Given the description of an element on the screen output the (x, y) to click on. 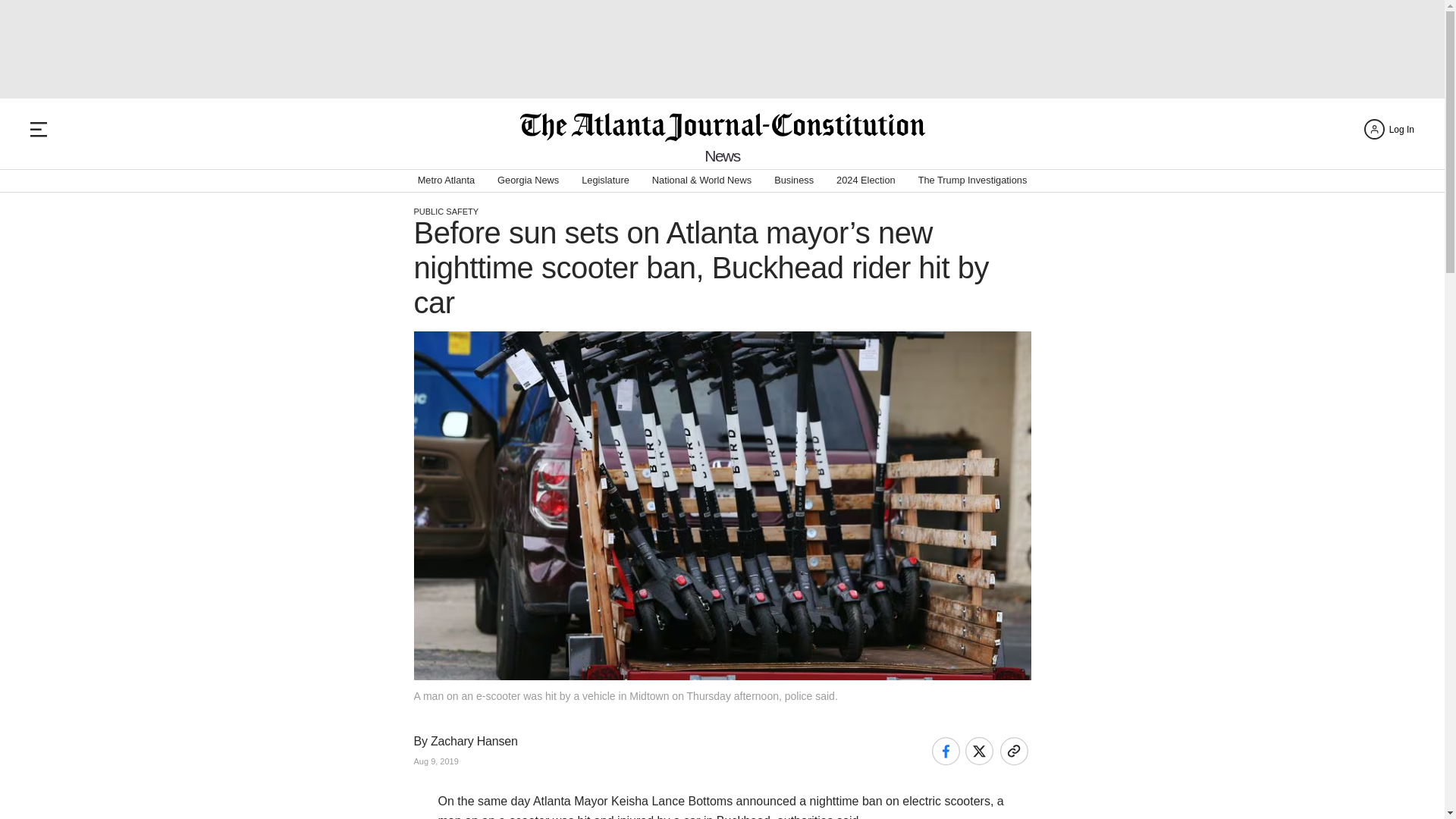
The Trump Investigations (972, 180)
Metro Atlanta (445, 180)
News (721, 155)
Georgia News (528, 180)
2024 Election (865, 180)
Business (793, 180)
Legislature (604, 180)
